Given the description of an element on the screen output the (x, y) to click on. 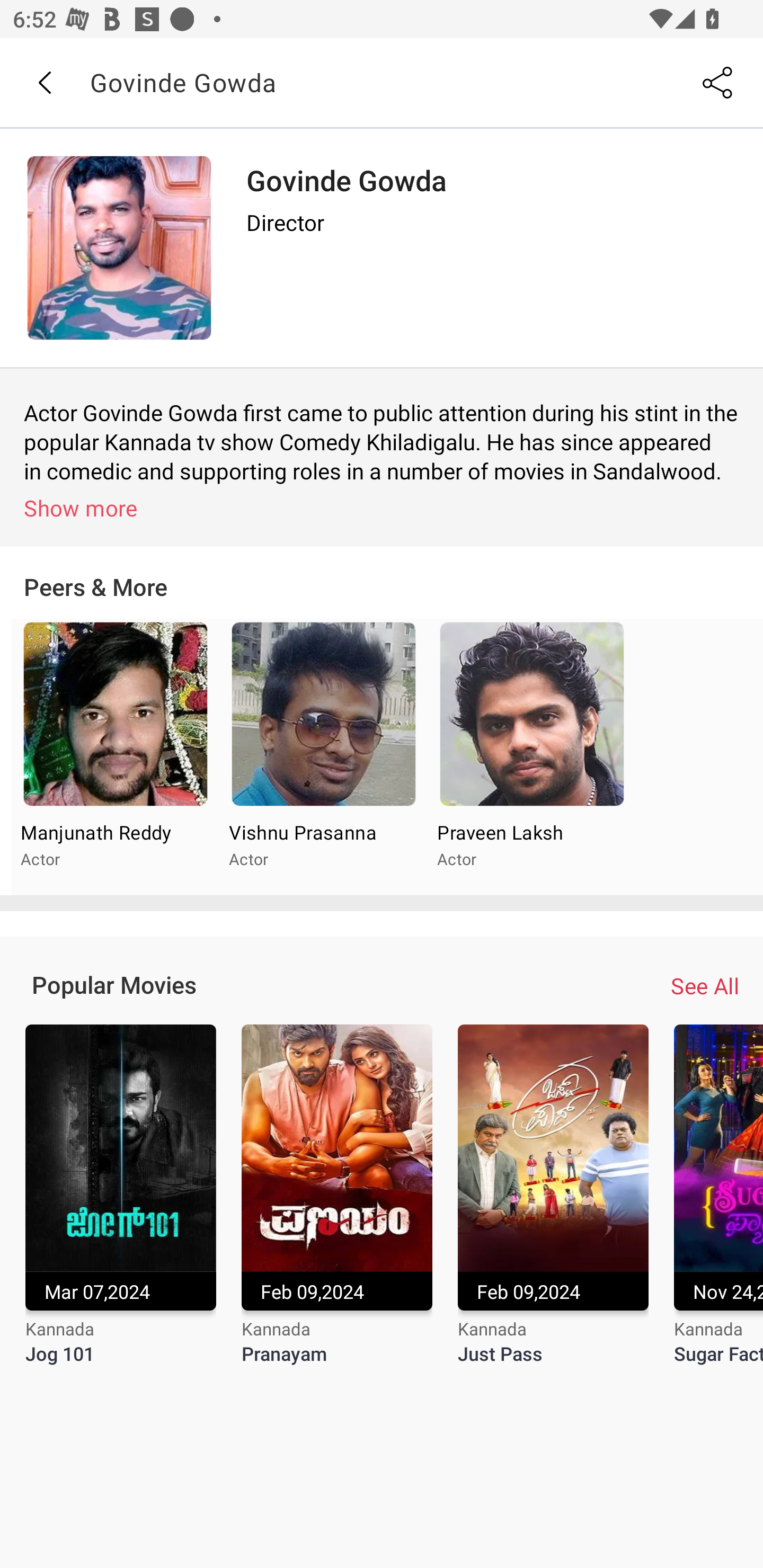
Back (44, 82)
Show more (384, 507)
Manjunath Reddy Actor (115, 757)
Vishnu Prasanna Actor (323, 757)
Praveen Laksh Actor (531, 757)
See All (704, 985)
Mar 07,2024 Kannada Jog 101 (120, 1205)
Feb 09,2024 Kannada Pranayam (336, 1205)
Feb 09,2024 Kannada Just Pass (552, 1205)
